Given the description of an element on the screen output the (x, y) to click on. 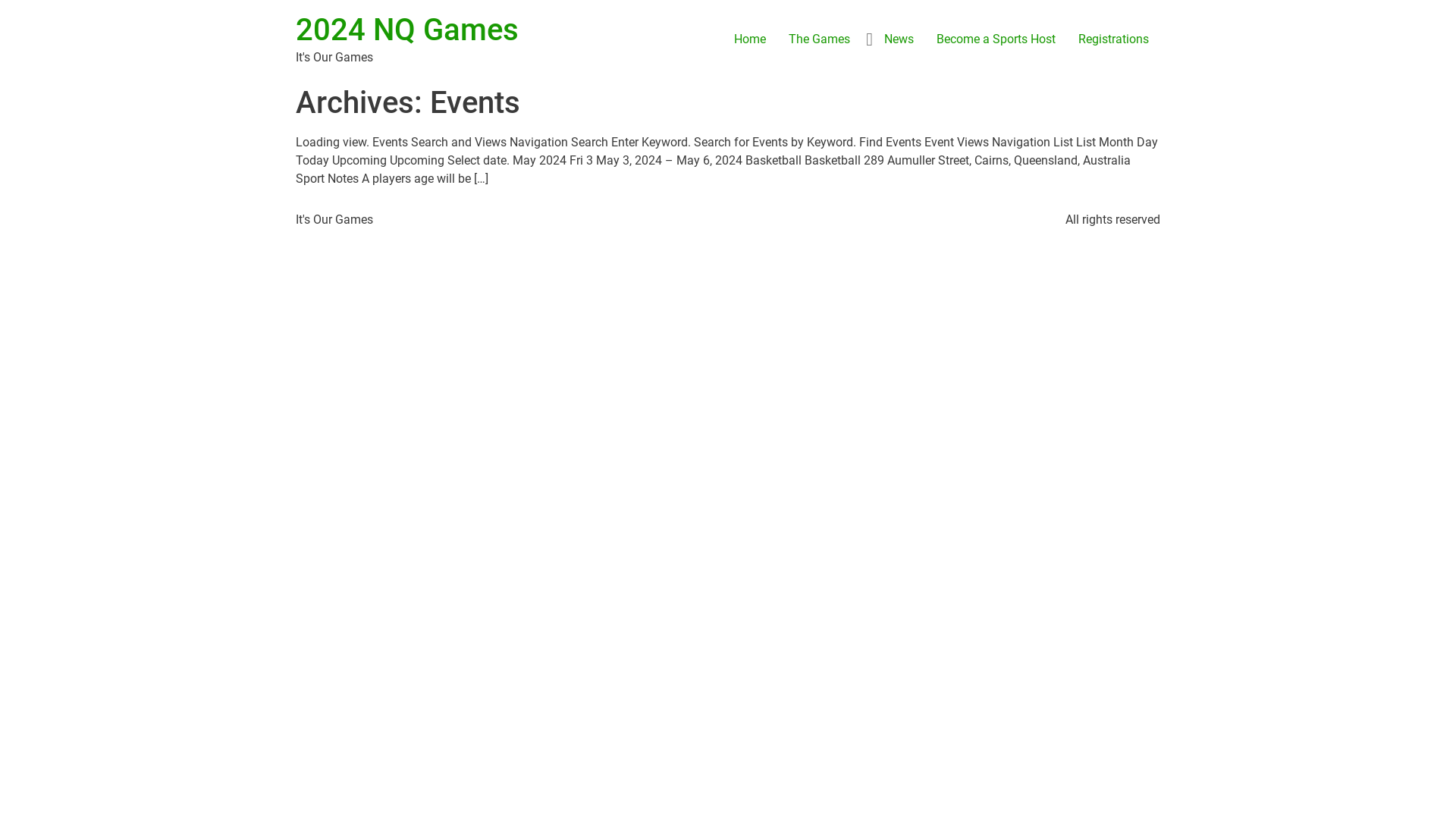
The Games Element type: text (819, 39)
News Element type: text (898, 39)
Home Element type: text (749, 39)
Registrations Element type: text (1113, 39)
2024 NQ Games Element type: text (406, 29)
Become a Sports Host Element type: text (995, 39)
